Given the description of an element on the screen output the (x, y) to click on. 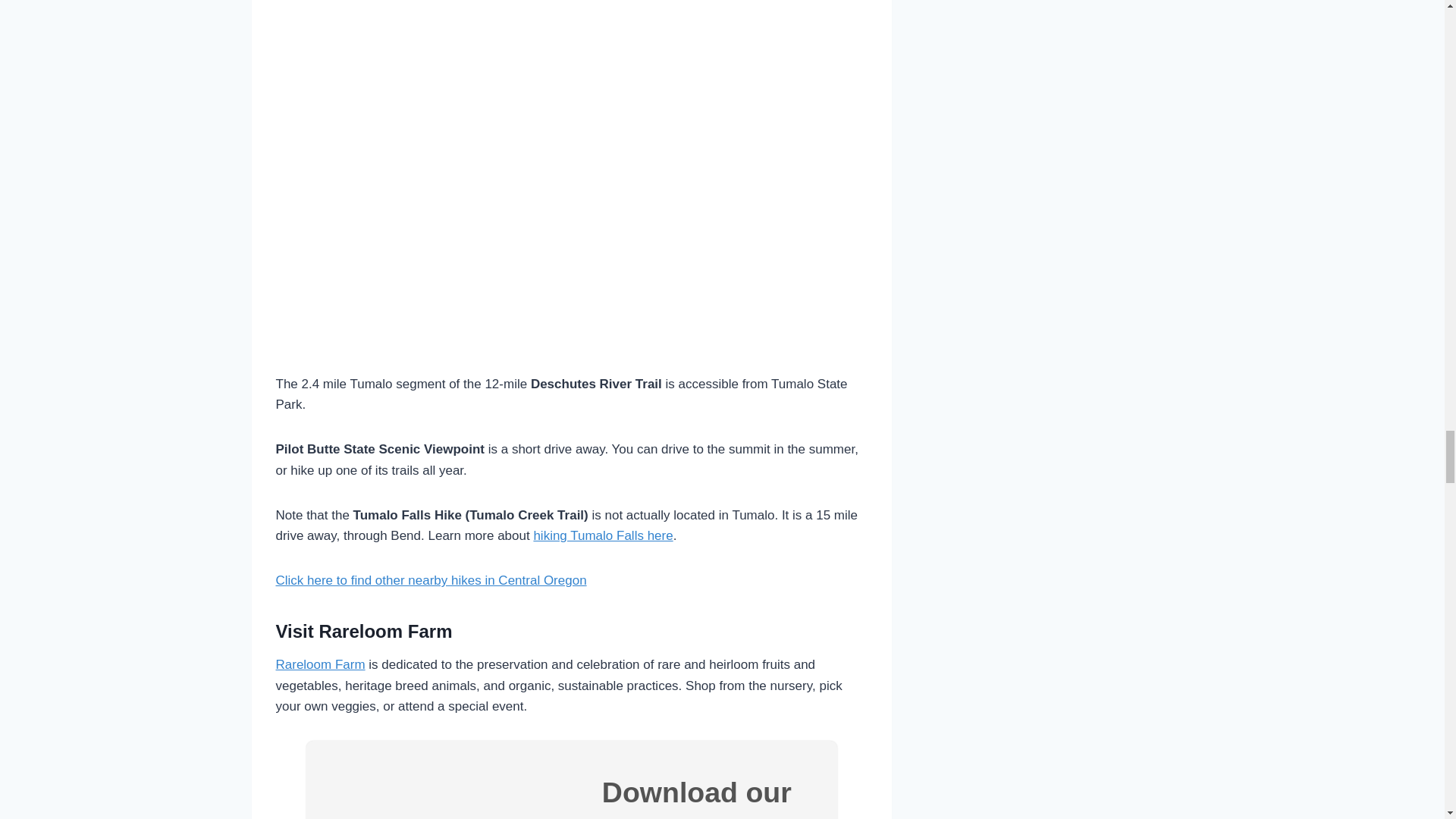
hiking Tumalo Falls here (602, 535)
Rareloom Farm (320, 664)
Click here to find other nearby hikes in Central Oregon (431, 580)
